Given the description of an element on the screen output the (x, y) to click on. 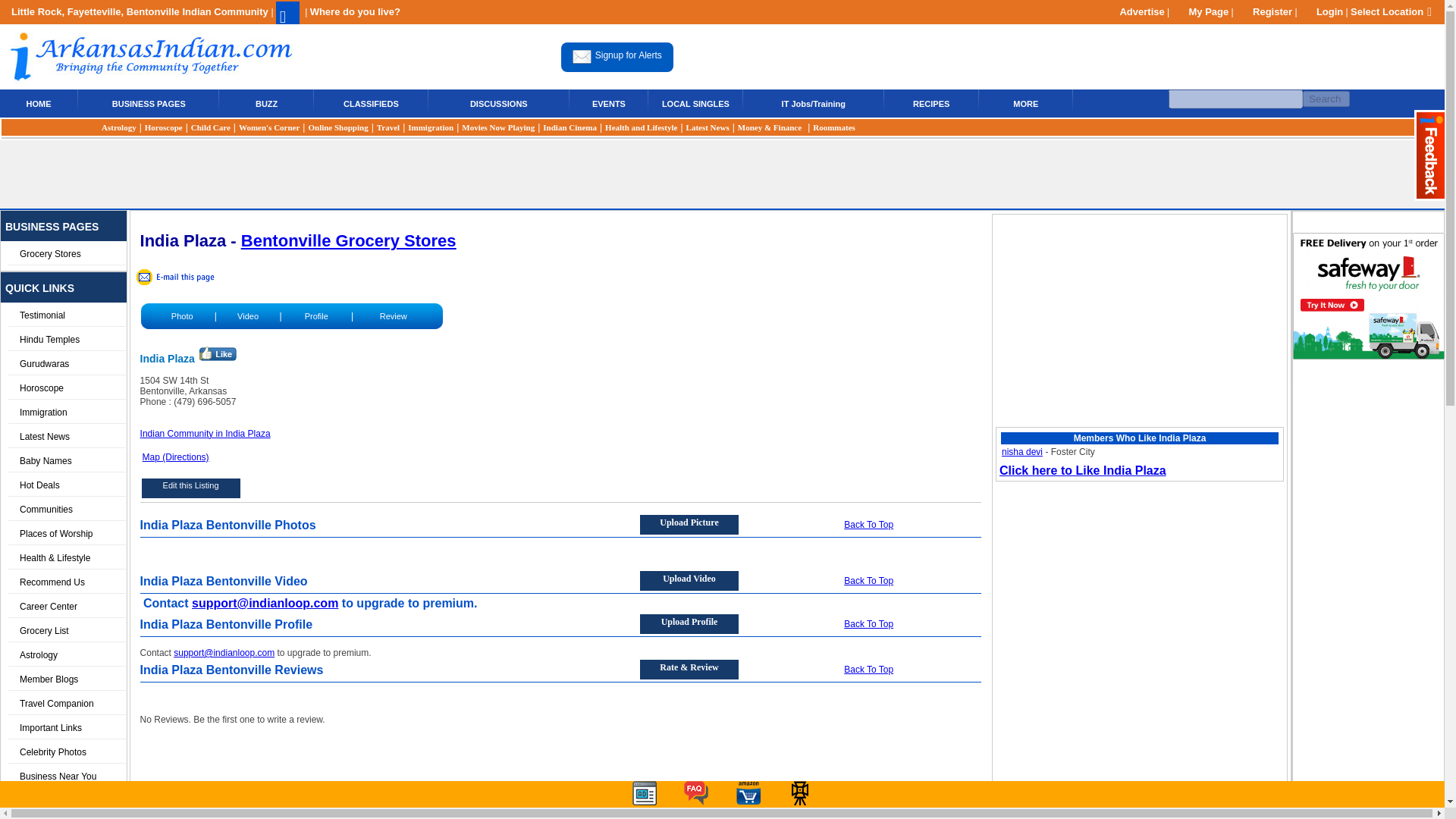
Little Rock, Fayetteville, Bentonville Local Movies (497, 126)
Little Rock, Fayetteville, Bentonville Indian Discussions (498, 102)
Little Rock, Fayetteville, Bentonville IT Jobs and Training (813, 102)
Little Rock, Fayetteville, Bentonville Indian Yellow Pages (149, 102)
Little Rock, Fayetteville, Bentonville Indian Community (140, 11)
Search  (1326, 98)
Where do you live? (355, 11)
Little Rock, Fayetteville, Bentonville Indian Women's Corner (268, 126)
Little Rock, Fayetteville, Bentonville Indian Cinema (569, 126)
My Page (1200, 11)
Advertise (1132, 11)
Little Rock, Fayetteville, Bentonville Indian classifieds (370, 102)
